Given the description of an element on the screen output the (x, y) to click on. 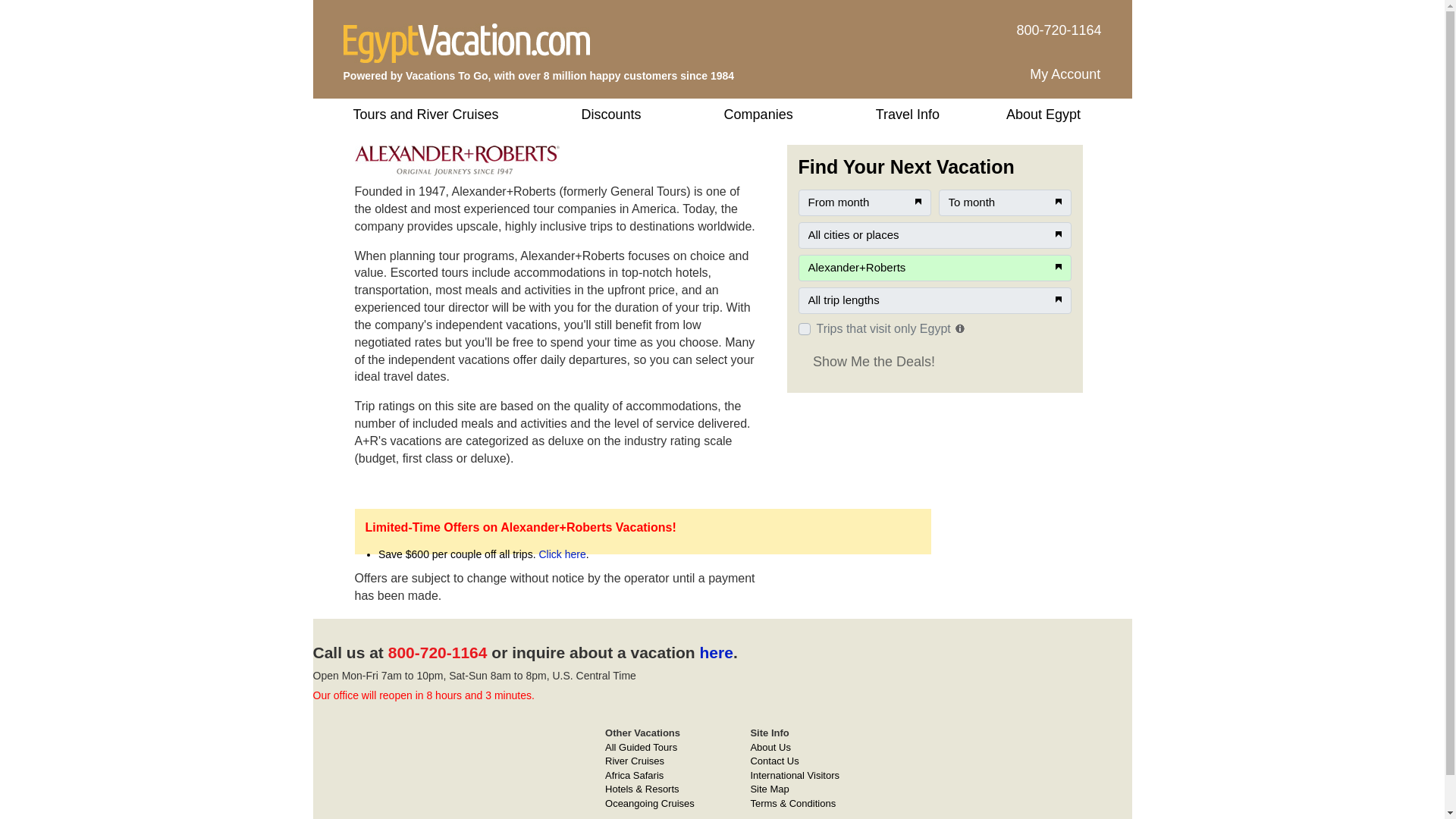
About Egypt (1044, 114)
Companies (759, 114)
Tours and River Cruises (428, 114)
Discounts (611, 114)
Show Me the Deals! (873, 361)
Travel Info (907, 114)
My Account (1064, 73)
